Given the description of an element on the screen output the (x, y) to click on. 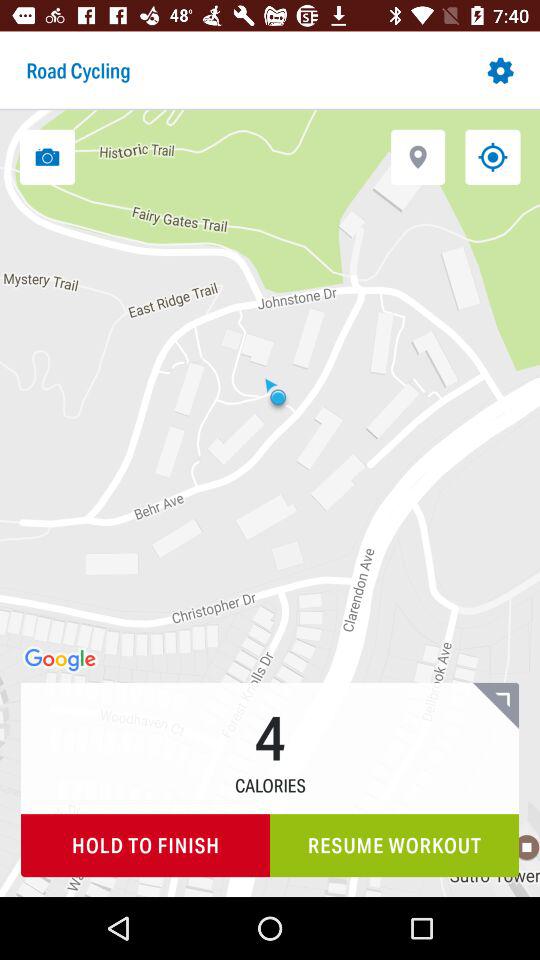
flip until the hold to finish (145, 845)
